Given the description of an element on the screen output the (x, y) to click on. 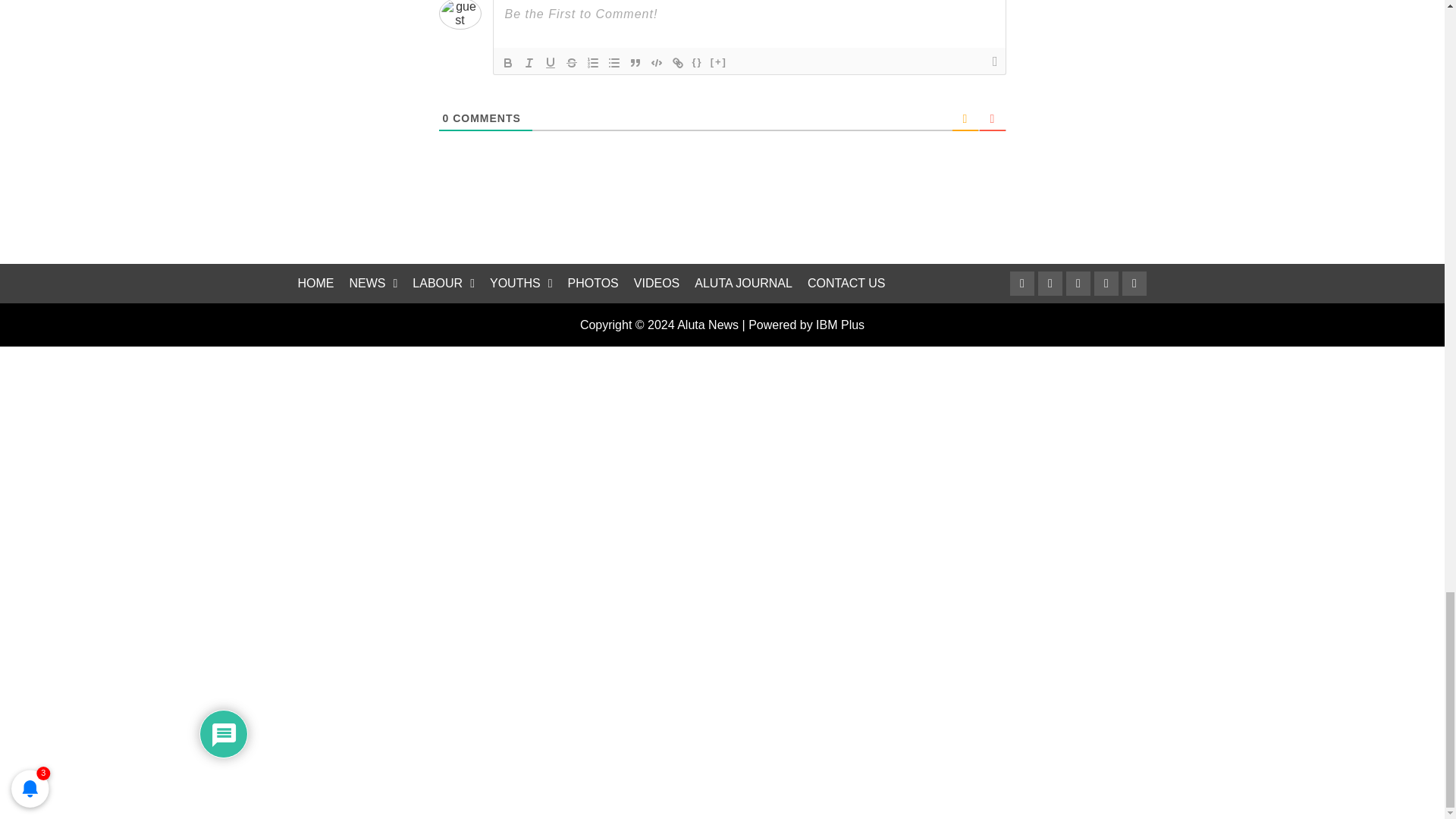
Bold (507, 63)
Unordered List (614, 63)
Strike (571, 63)
Italic (529, 63)
Blockquote (635, 63)
Code Block (656, 63)
Underline (550, 63)
Ordered List (593, 63)
